Given the description of an element on the screen output the (x, y) to click on. 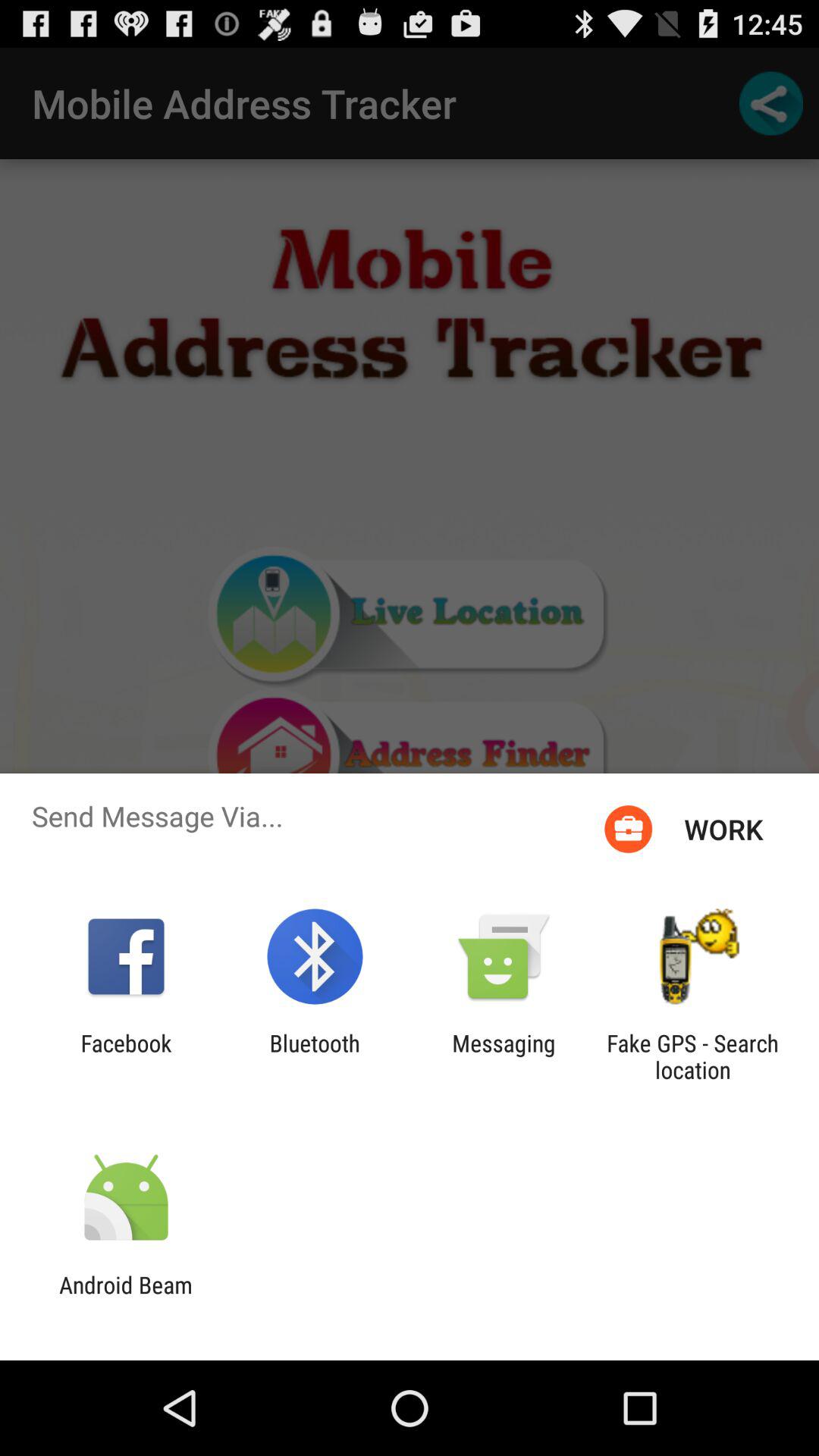
jump to the messaging (503, 1056)
